Given the description of an element on the screen output the (x, y) to click on. 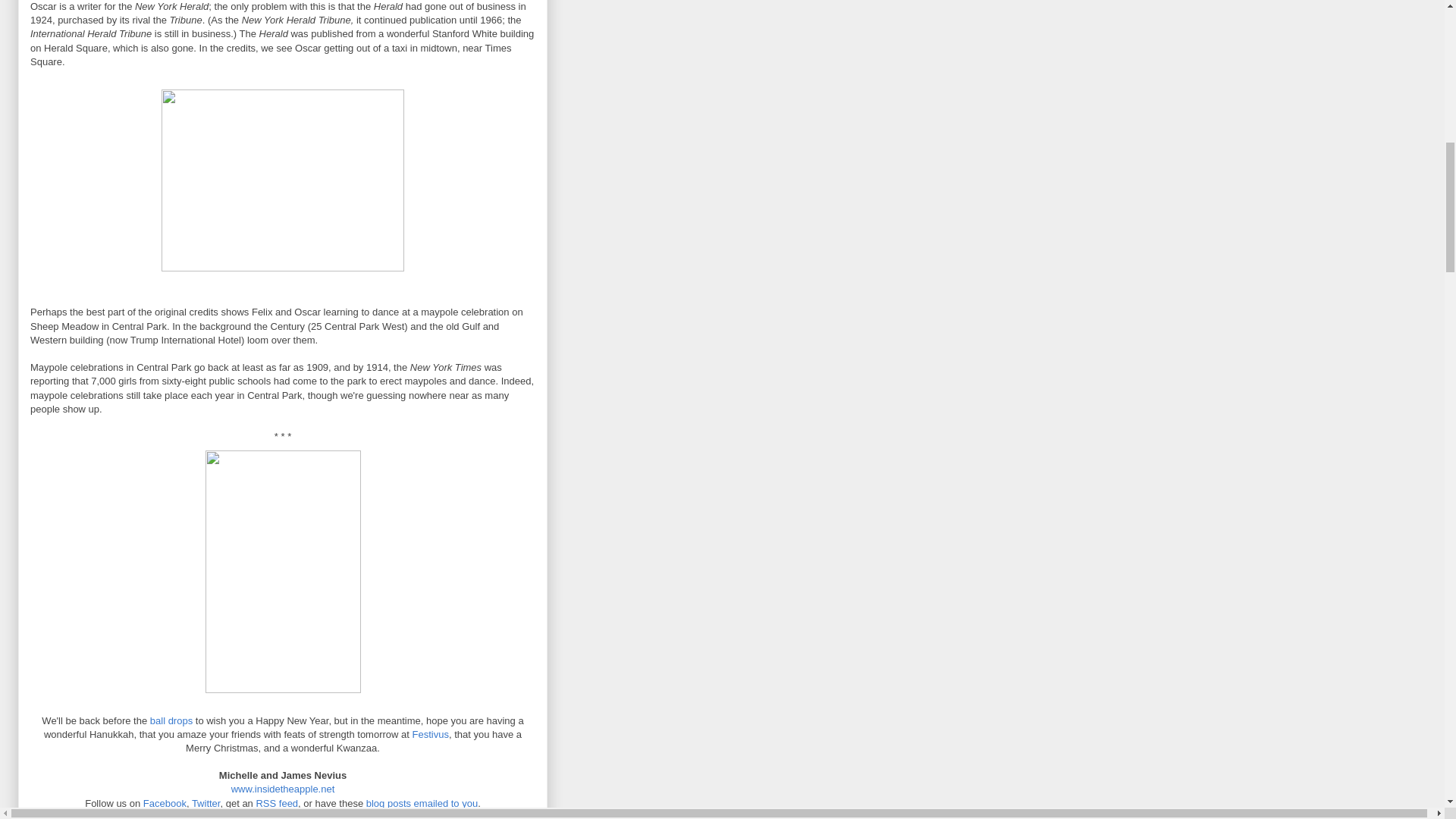
ball drops (170, 720)
Festivus (430, 734)
blog posts emailed to you (421, 803)
Facebook (164, 803)
RSS feed (277, 803)
www.insidetheapple.net (282, 788)
Twitter (206, 803)
